Given the description of an element on the screen output the (x, y) to click on. 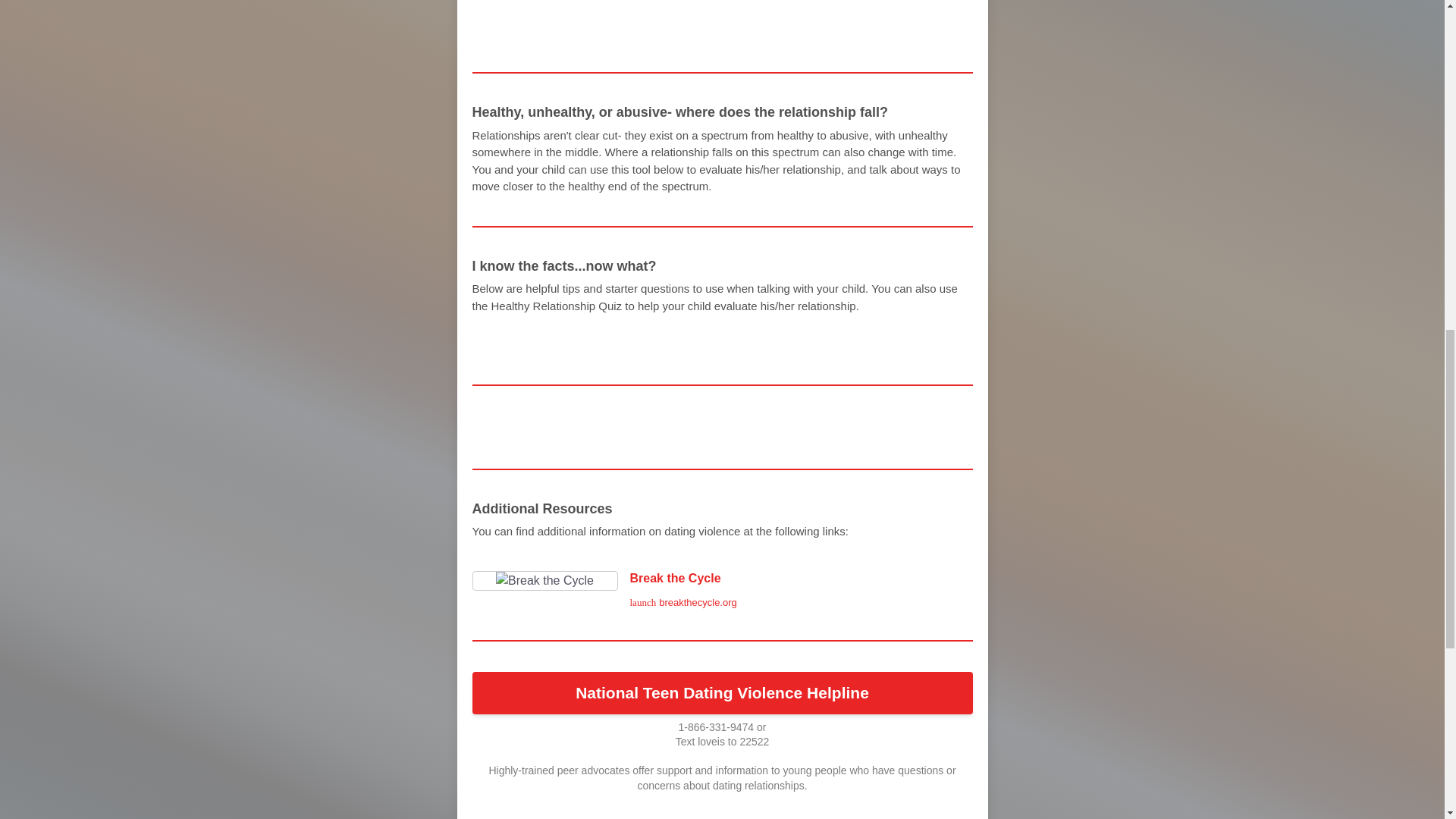
Dating (727, 343)
About (721, 590)
How (670, 343)
Signs (492, 343)
Talk (570, 30)
Healthy (552, 343)
to (505, 426)
to (523, 343)
Warning (580, 343)
National Teen Dating Violence Helpline (509, 30)
Abuse (721, 692)
of (643, 30)
Teens (604, 30)
Violence (617, 343)
